Given the description of an element on the screen output the (x, y) to click on. 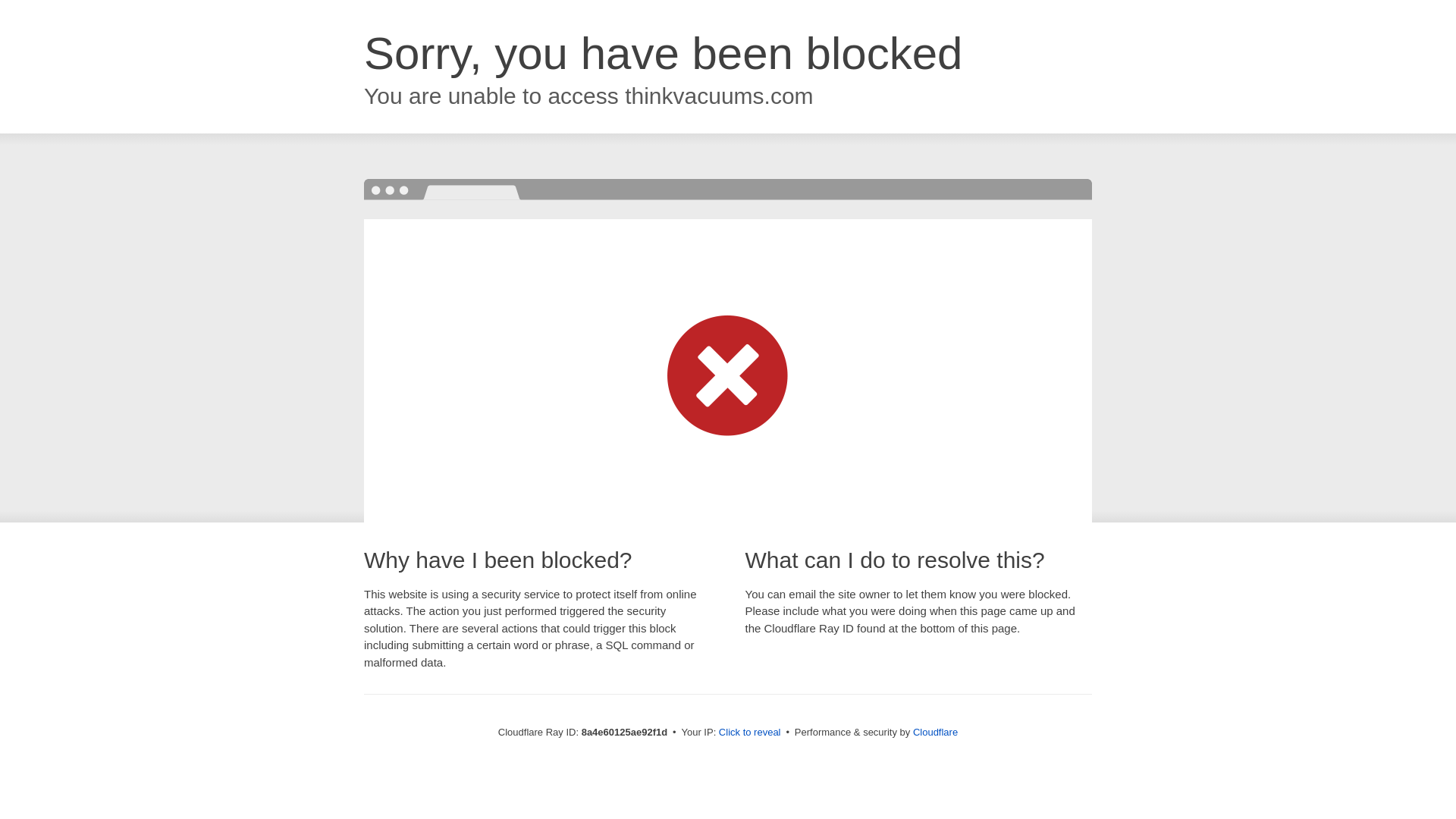
Click to reveal (749, 732)
Cloudflare (935, 731)
